Given the description of an element on the screen output the (x, y) to click on. 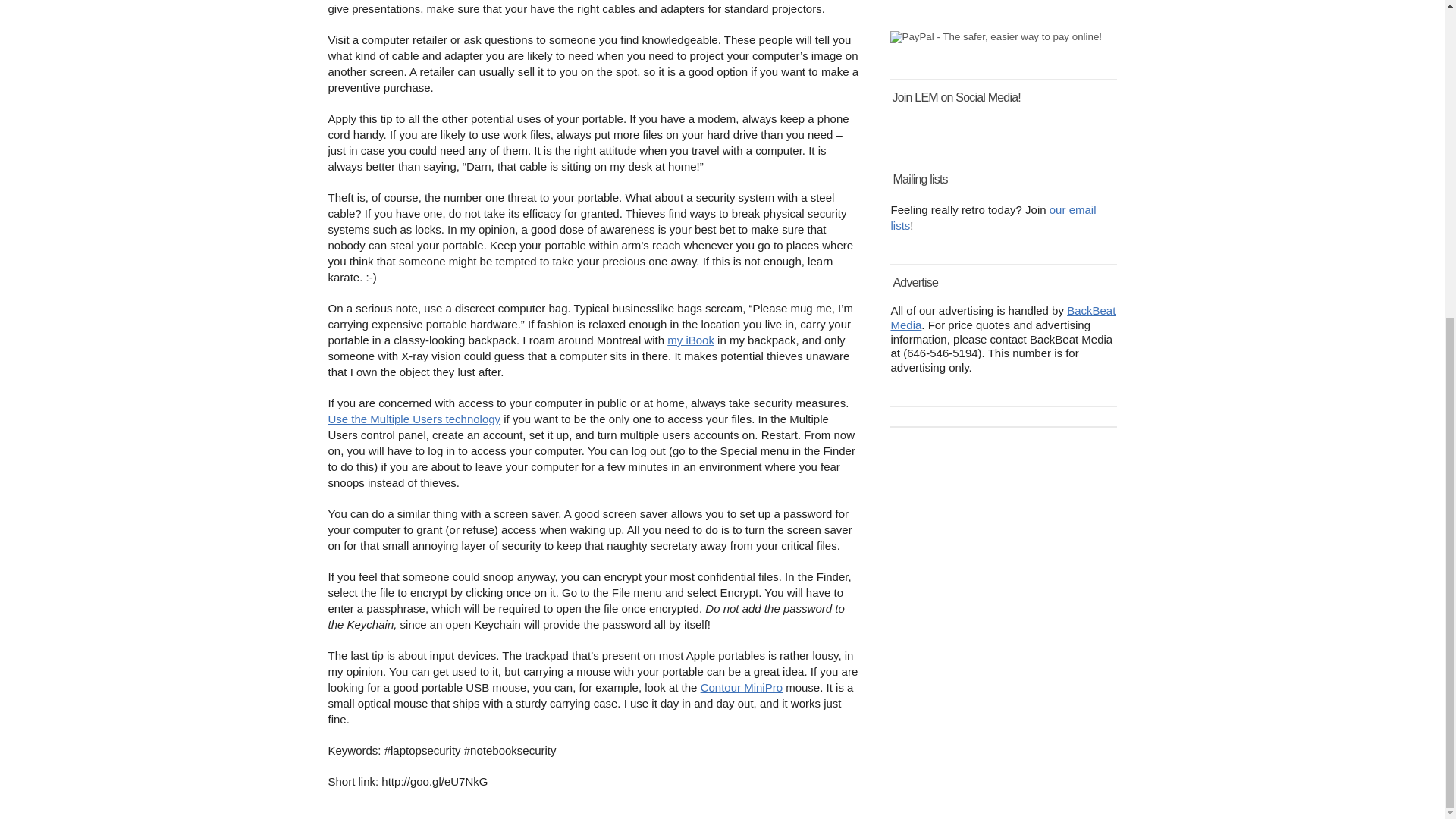
our email lists (992, 217)
Use the Multiple Users technology (413, 418)
BackBeat Media (1002, 317)
my iBook (690, 339)
Contour MiniPro (741, 686)
